Given the description of an element on the screen output the (x, y) to click on. 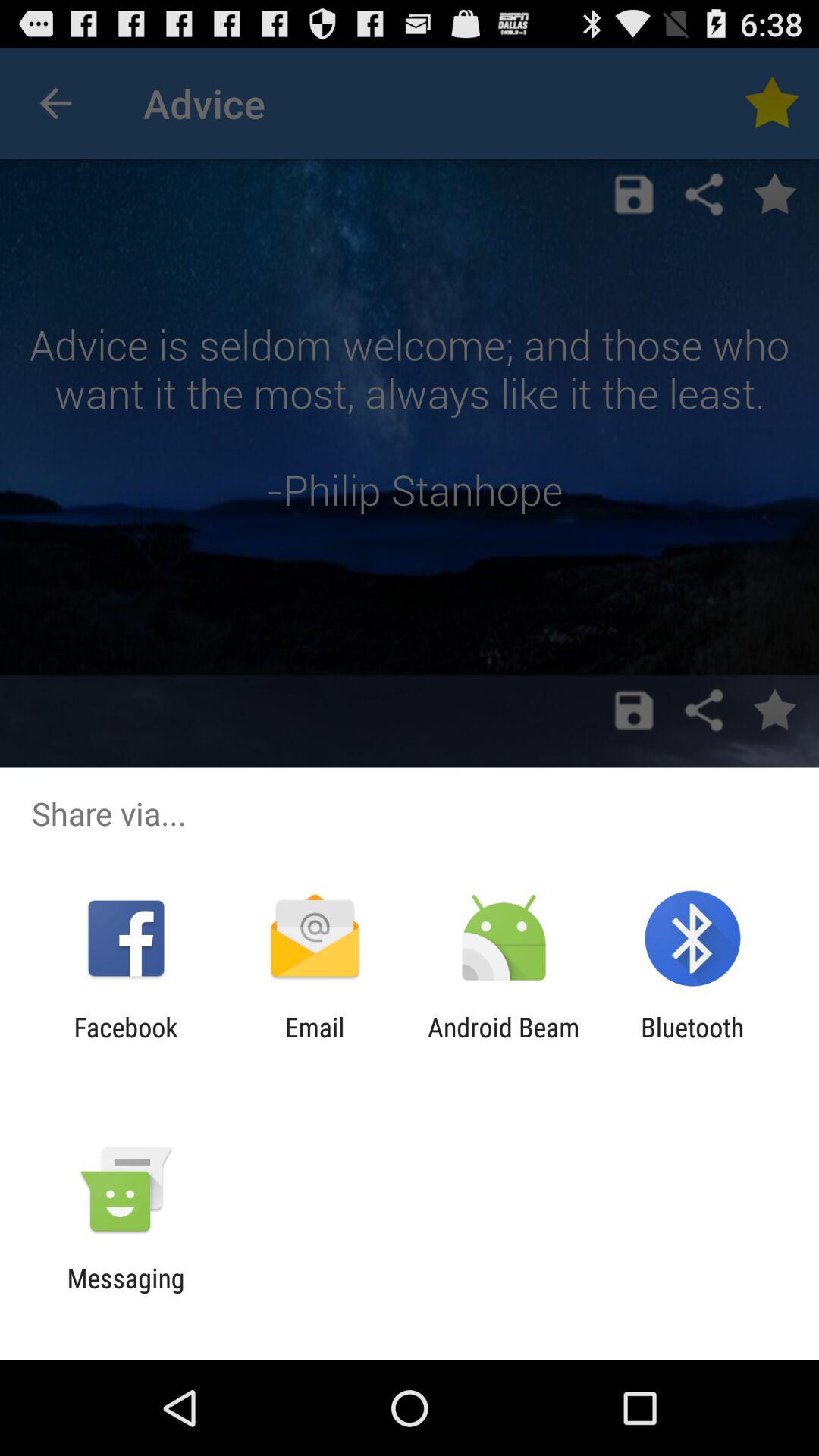
scroll until email app (314, 1042)
